Given the description of an element on the screen output the (x, y) to click on. 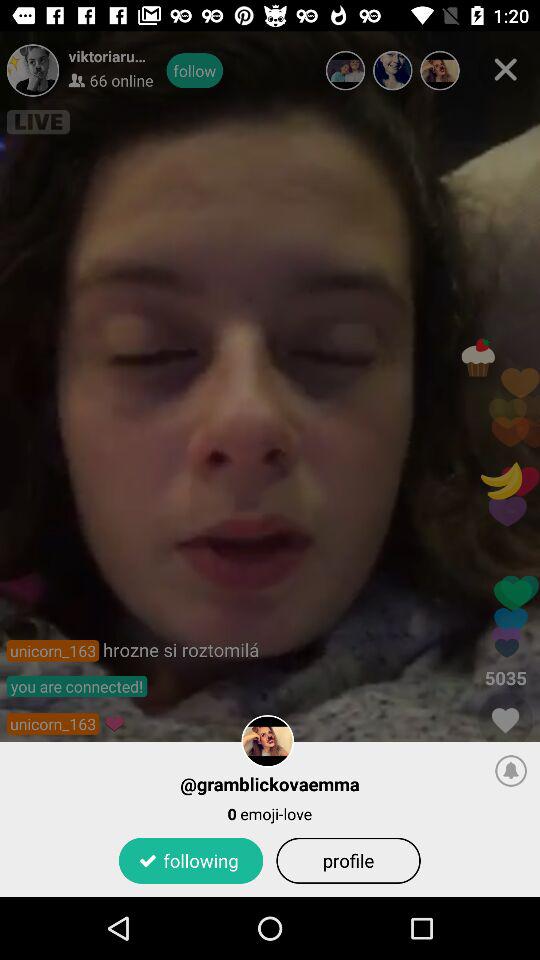
enable notifications (511, 770)
